Given the description of an element on the screen output the (x, y) to click on. 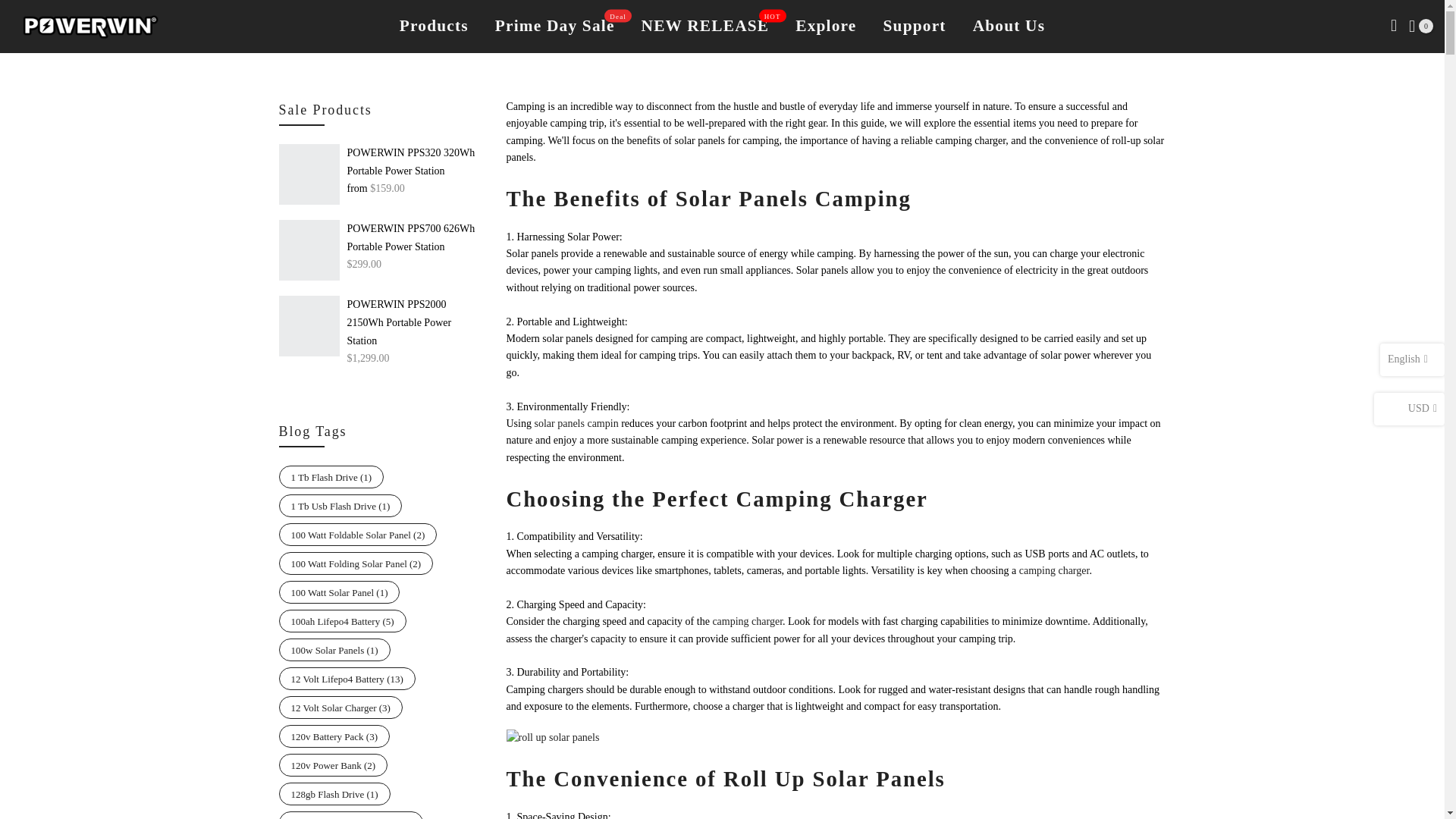
solar panels camping (793, 198)
camping charger (832, 498)
roll up solar panels (833, 778)
roll up solar panels (552, 737)
0 (1420, 26)
solar panels camping (575, 423)
camping charger (554, 26)
POWERWIN PPS700 626Wh Portable Power Station (705, 26)
POWERWIN PPS320 320Wh Portable Power Station (1052, 570)
Products (415, 238)
POWERWIN PPS2000 2150Wh Portable Power Station (415, 162)
About Us (433, 26)
Explore (415, 322)
